Given the description of an element on the screen output the (x, y) to click on. 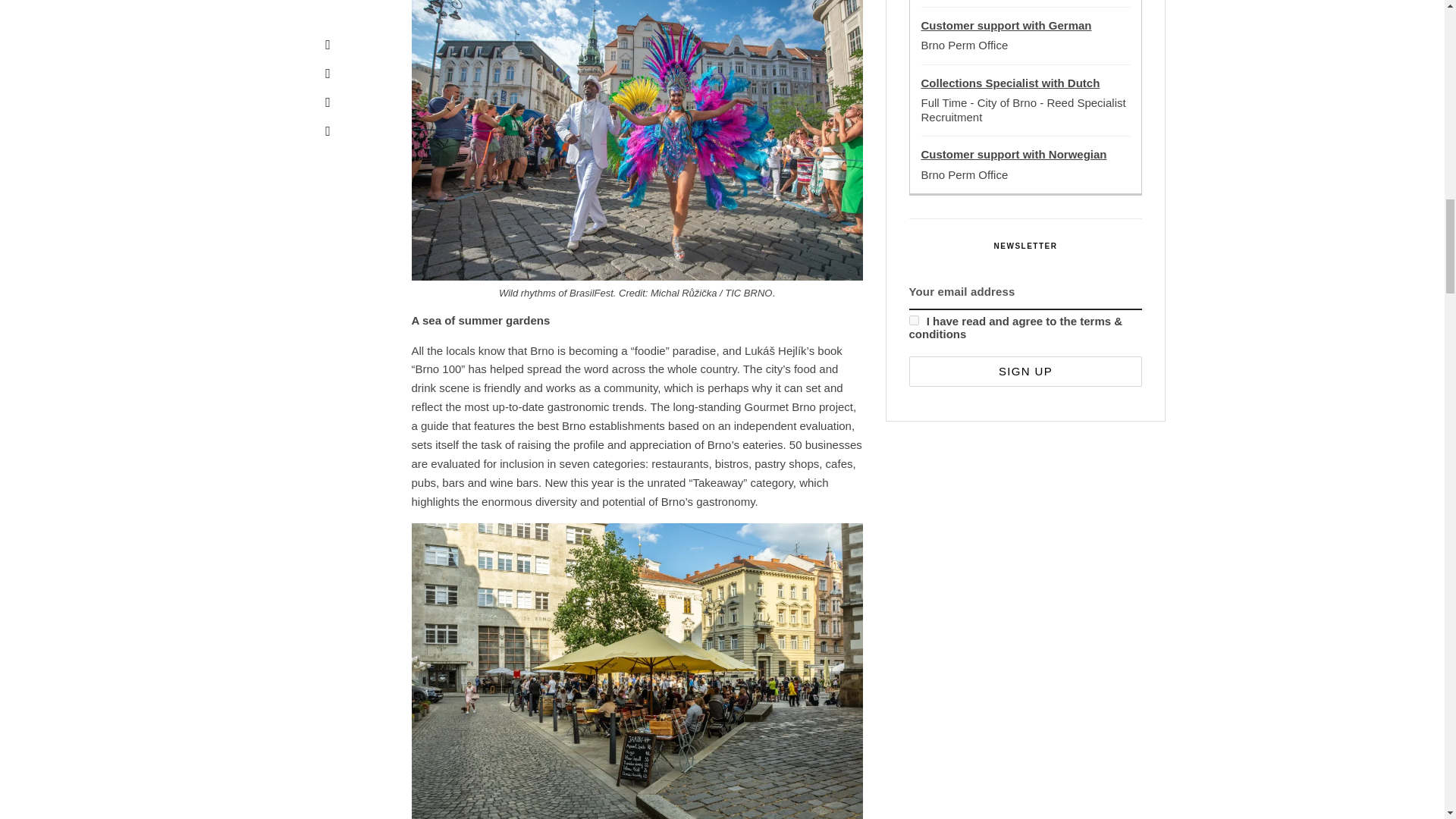
1 (913, 320)
Sign up (1024, 370)
